Given the description of an element on the screen output the (x, y) to click on. 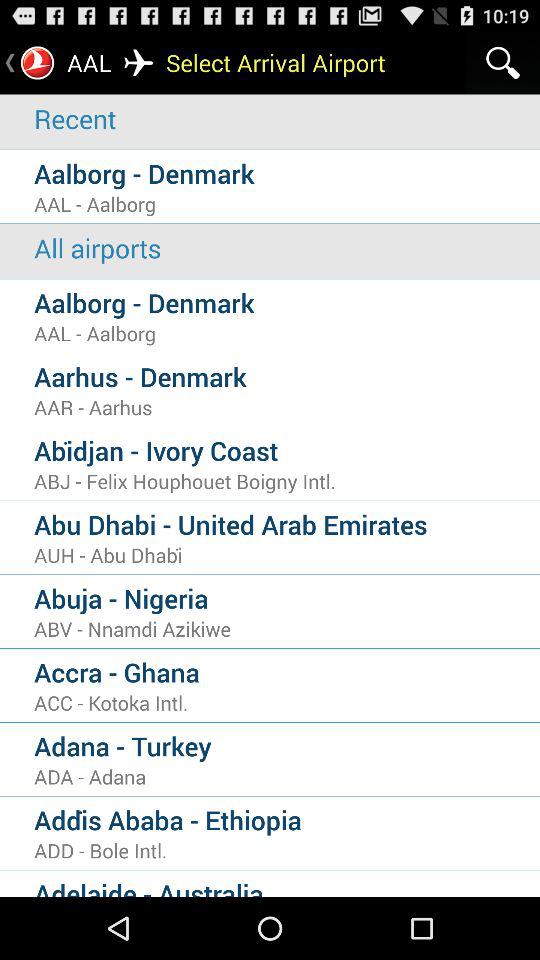
turn off the icon below ada - adana (287, 819)
